Given the description of an element on the screen output the (x, y) to click on. 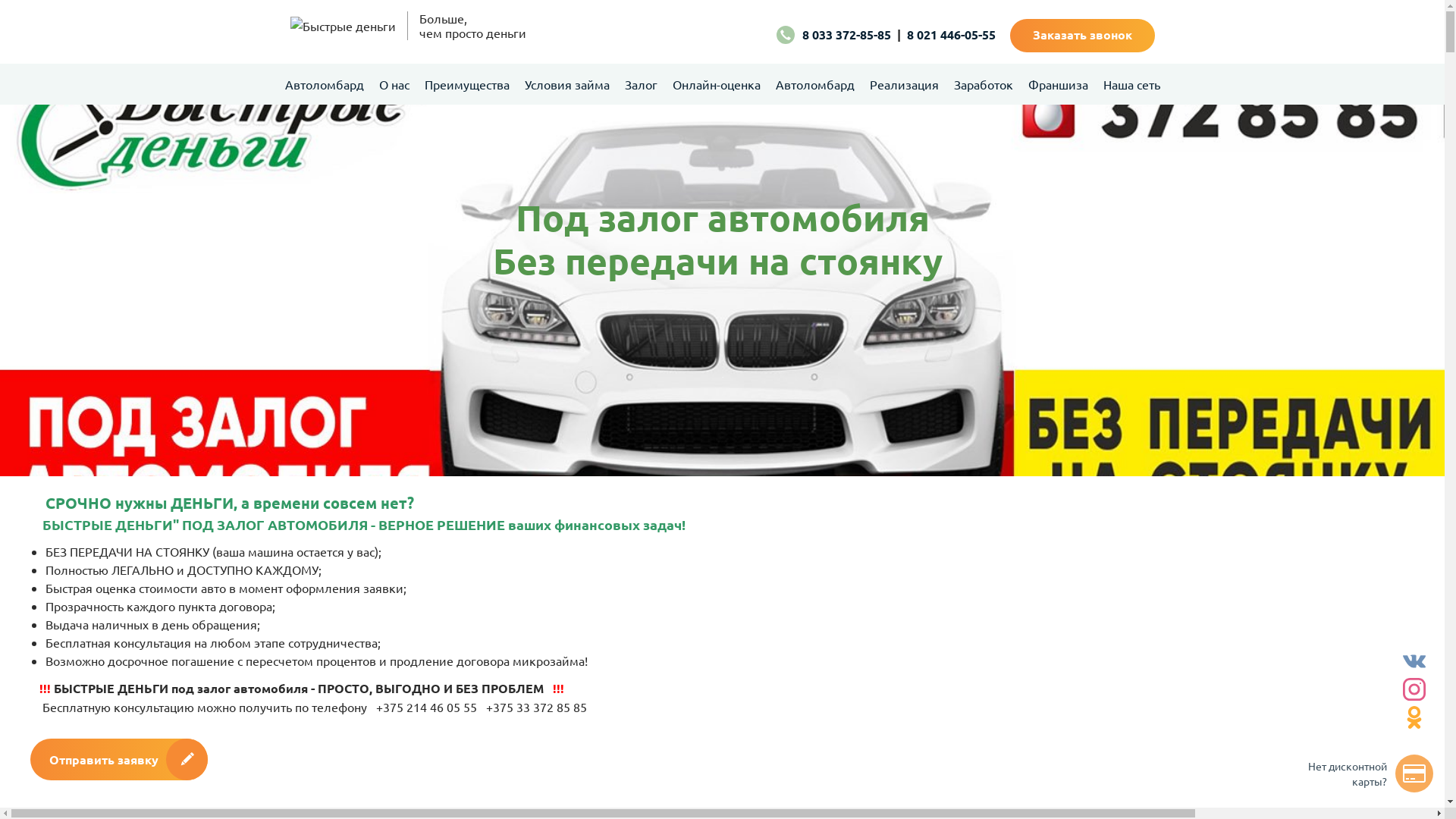
8 033 372-85-85 Element type: text (846, 34)
8 021 446-05-55 Element type: text (950, 34)
